Given the description of an element on the screen output the (x, y) to click on. 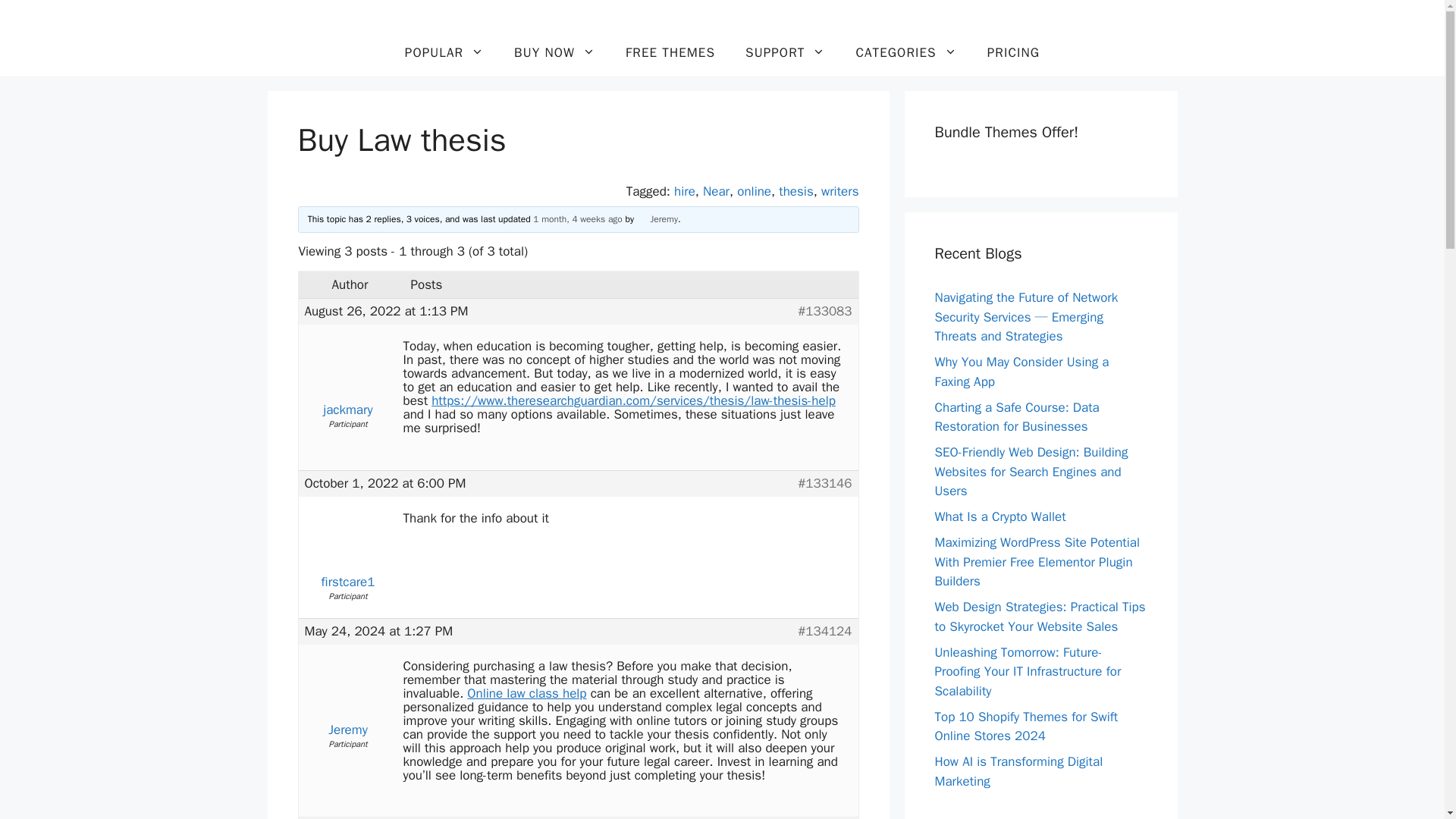
Reply To: Buy Law thesis (576, 218)
POPULAR (444, 53)
View Jeremy's profile (657, 218)
CATEGORIES (905, 53)
View firstcare1's profile (347, 574)
View Jeremy's profile (347, 722)
BUY NOW (554, 53)
View jackmary's profile (347, 402)
FREE THEMES (670, 53)
SUPPORT (785, 53)
